Given the description of an element on the screen output the (x, y) to click on. 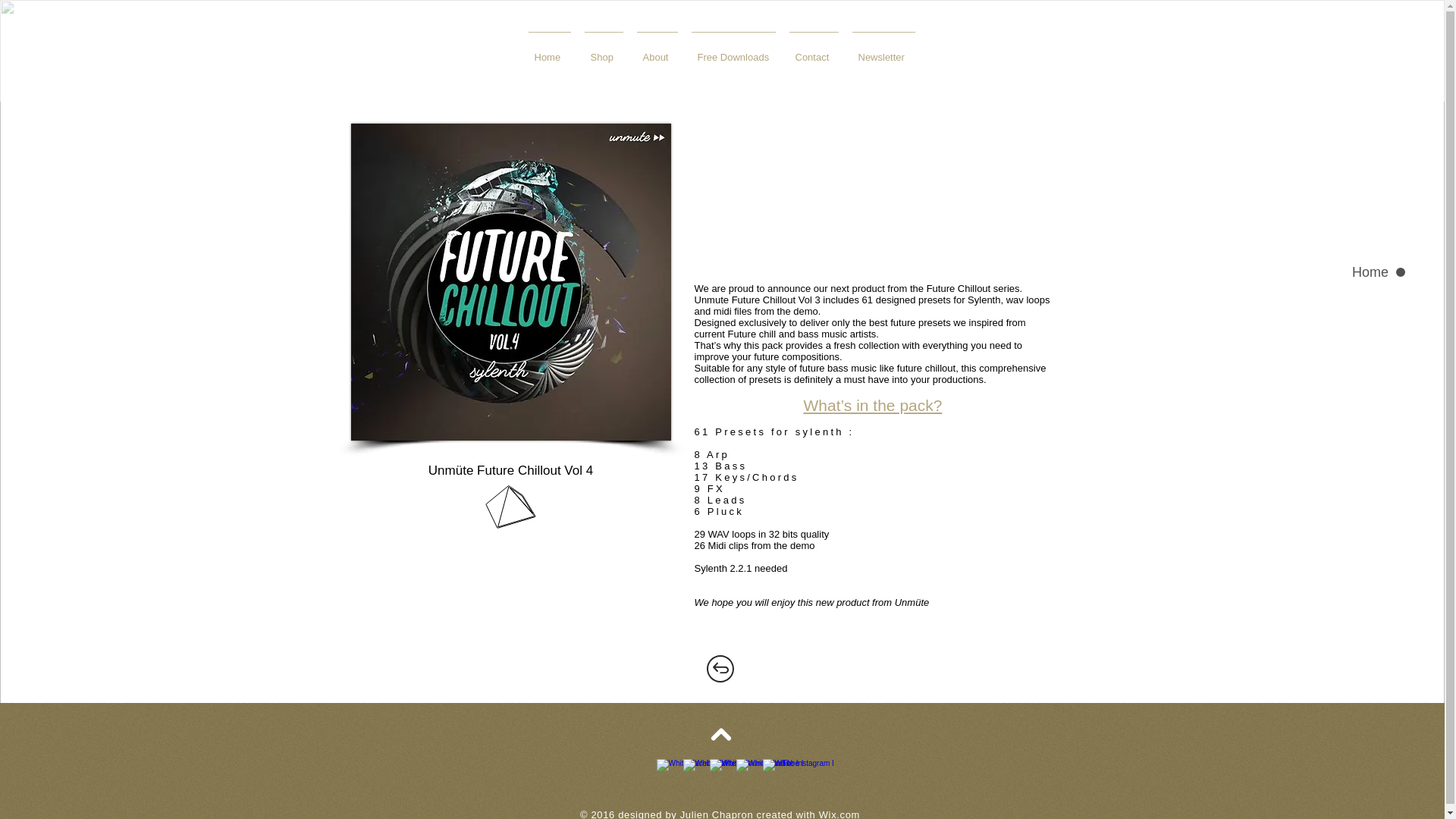
About (656, 50)
Contact (814, 50)
Home (1341, 271)
Newsletter (882, 50)
artworks-000149225353-165l7g-t500x500.jpg (509, 281)
Wix.com (839, 813)
Free Downloads (732, 50)
Shop (604, 50)
Home (549, 50)
